Given the description of an element on the screen output the (x, y) to click on. 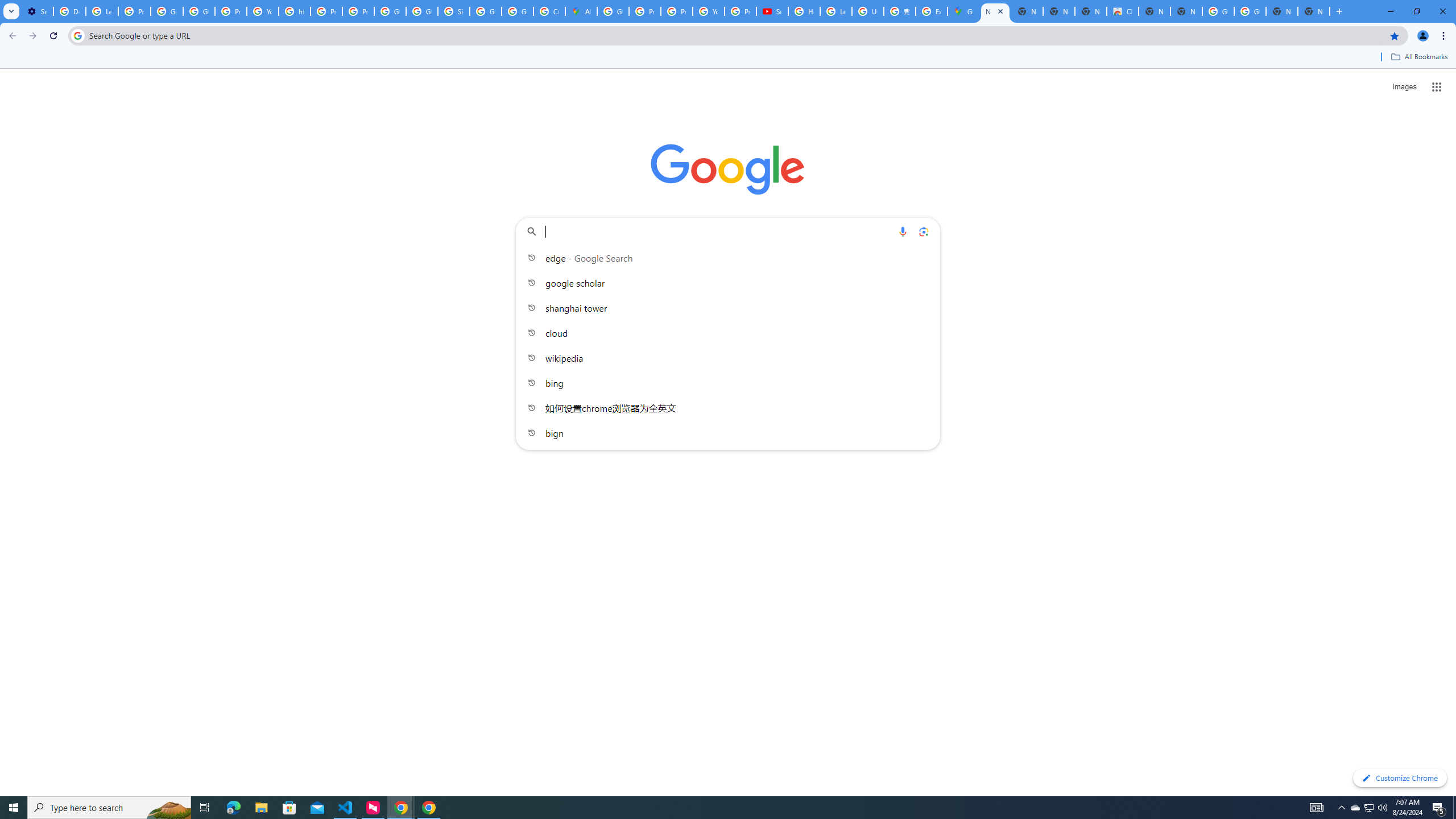
Sign in - Google Accounts (453, 11)
Chrome Web Store (1123, 11)
Privacy Help Center - Policies Help (644, 11)
